Given the description of an element on the screen output the (x, y) to click on. 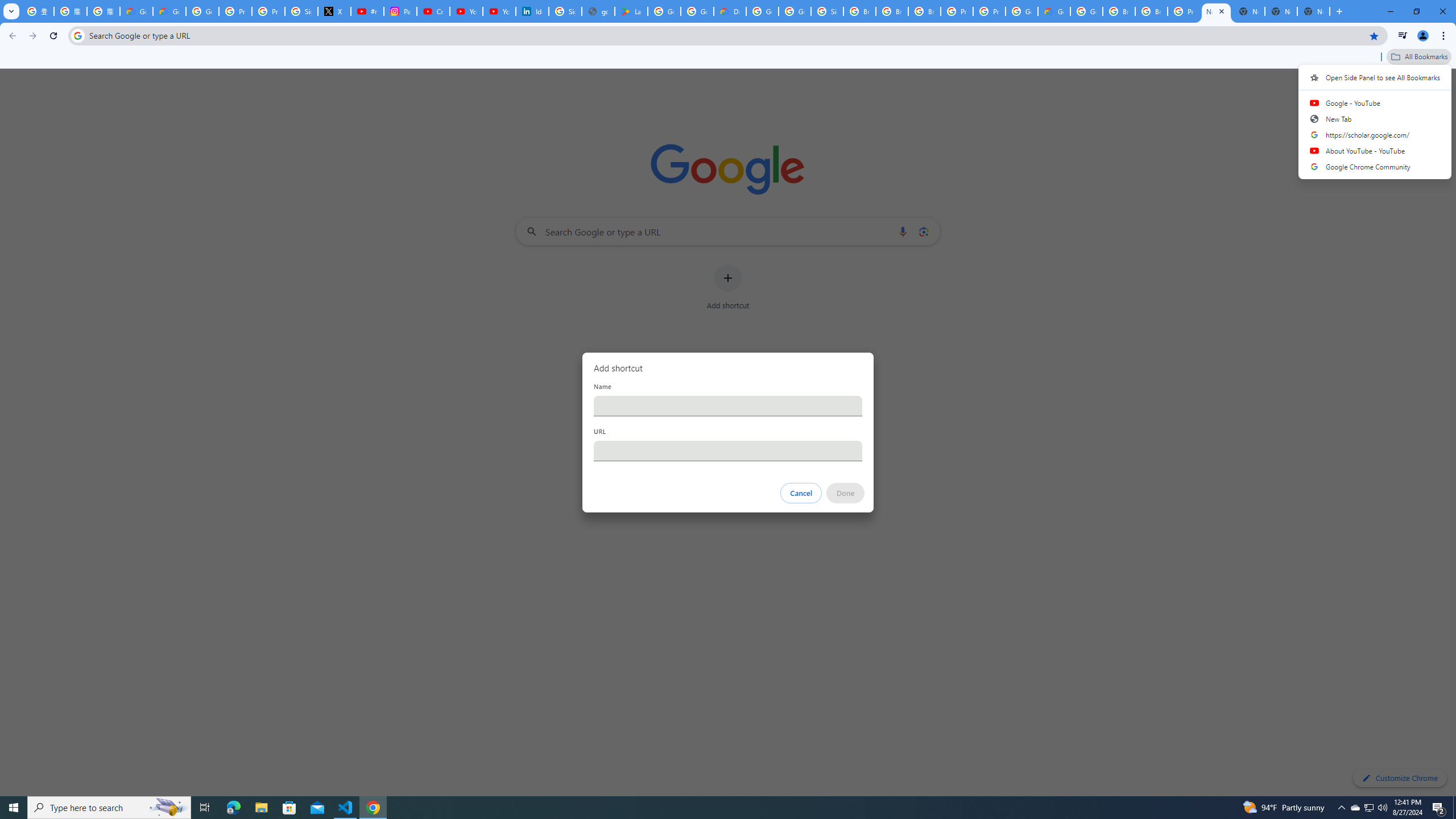
New Tab (1338, 11)
Control your music, videos, and more (1402, 35)
Sign in - Google Accounts (564, 11)
New Tab (1374, 118)
